Given the description of an element on the screen output the (x, y) to click on. 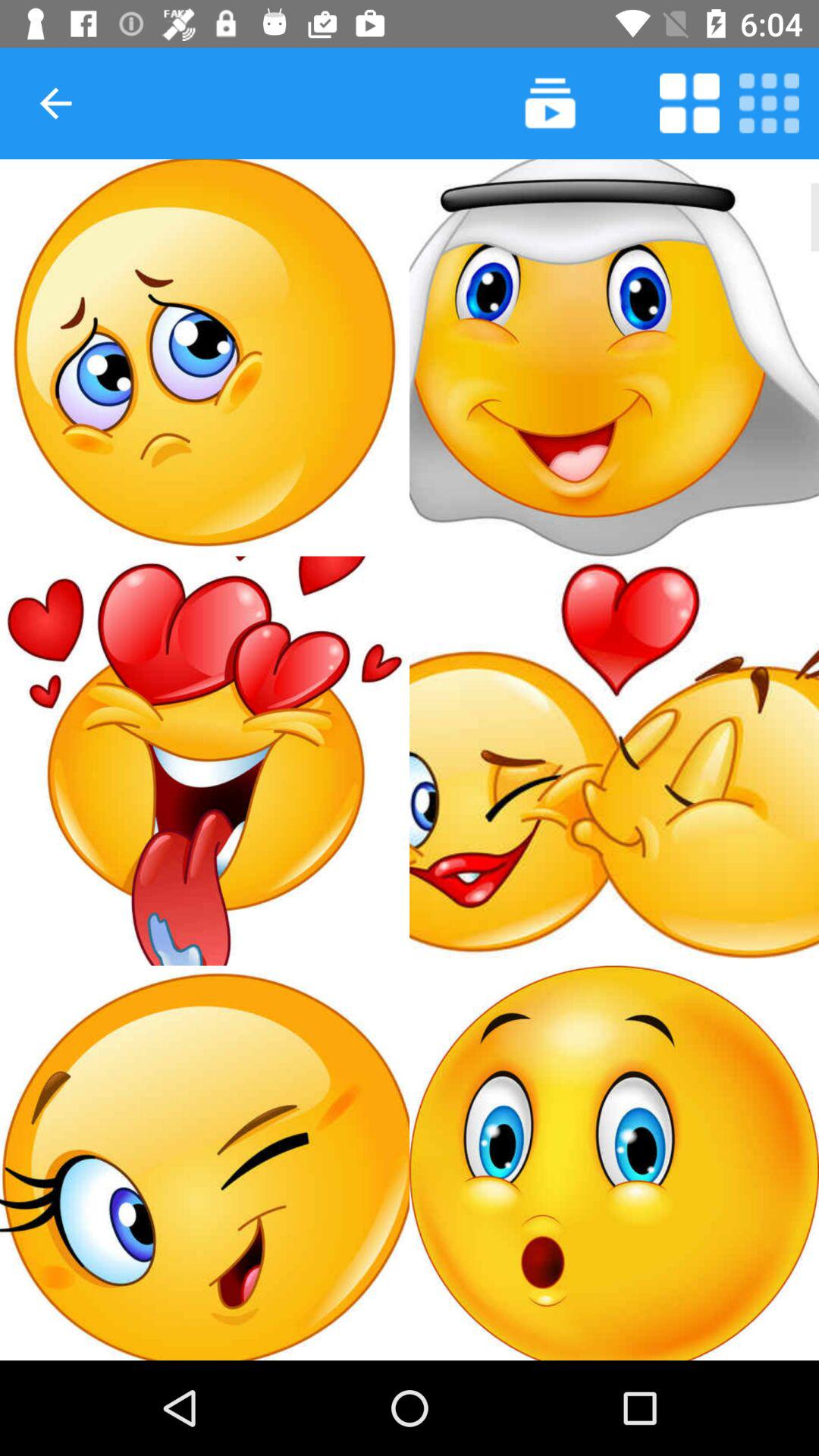
insert nun sticker (614, 357)
